Given the description of an element on the screen output the (x, y) to click on. 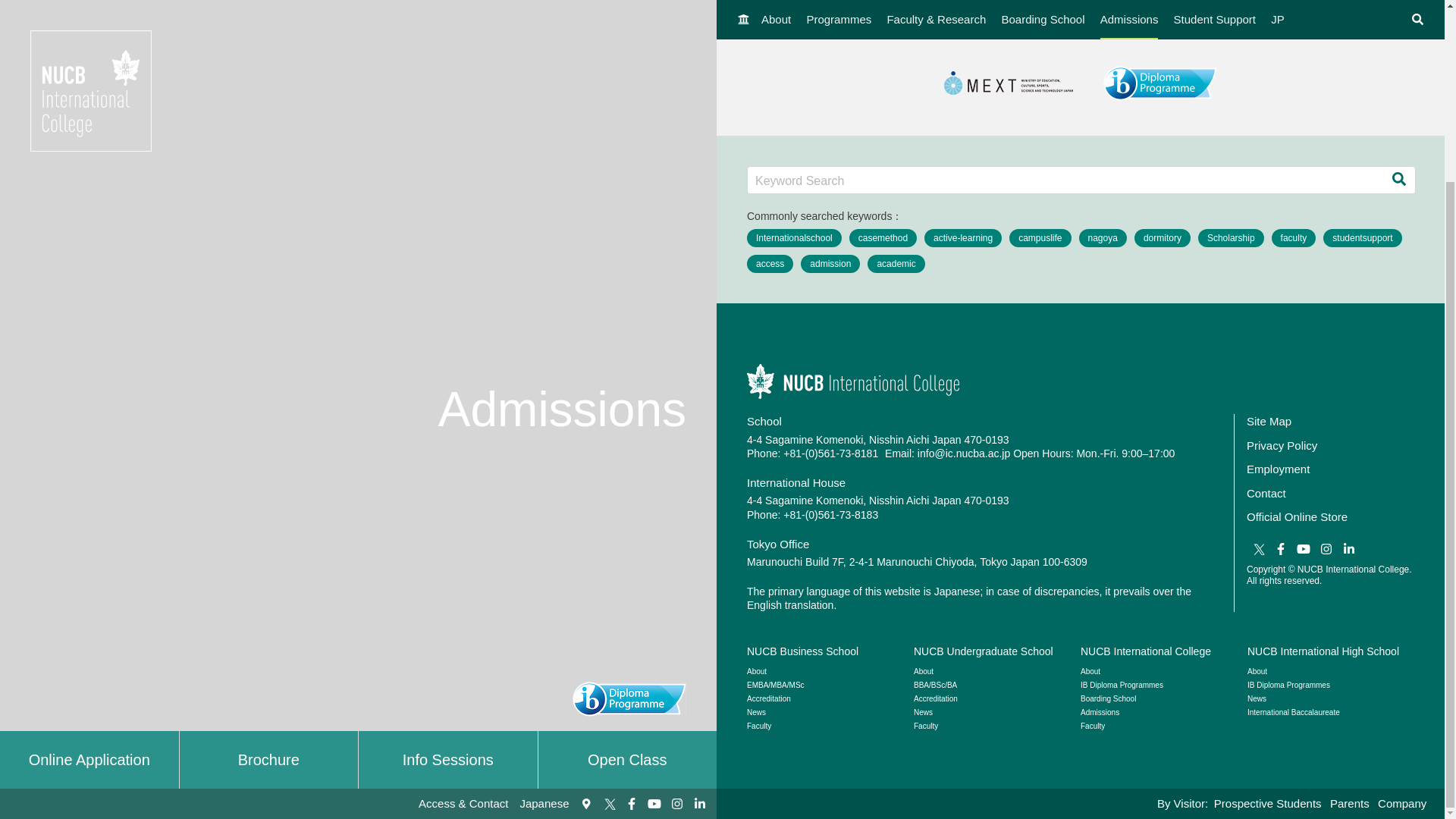
campuslife (1039, 238)
access (769, 263)
nagoya (1102, 238)
admission (830, 263)
faculty (1293, 238)
casemethod (882, 238)
dormitory (1162, 238)
Scholarship (1230, 238)
academic (895, 263)
Internationalschool (793, 238)
